Given the description of an element on the screen output the (x, y) to click on. 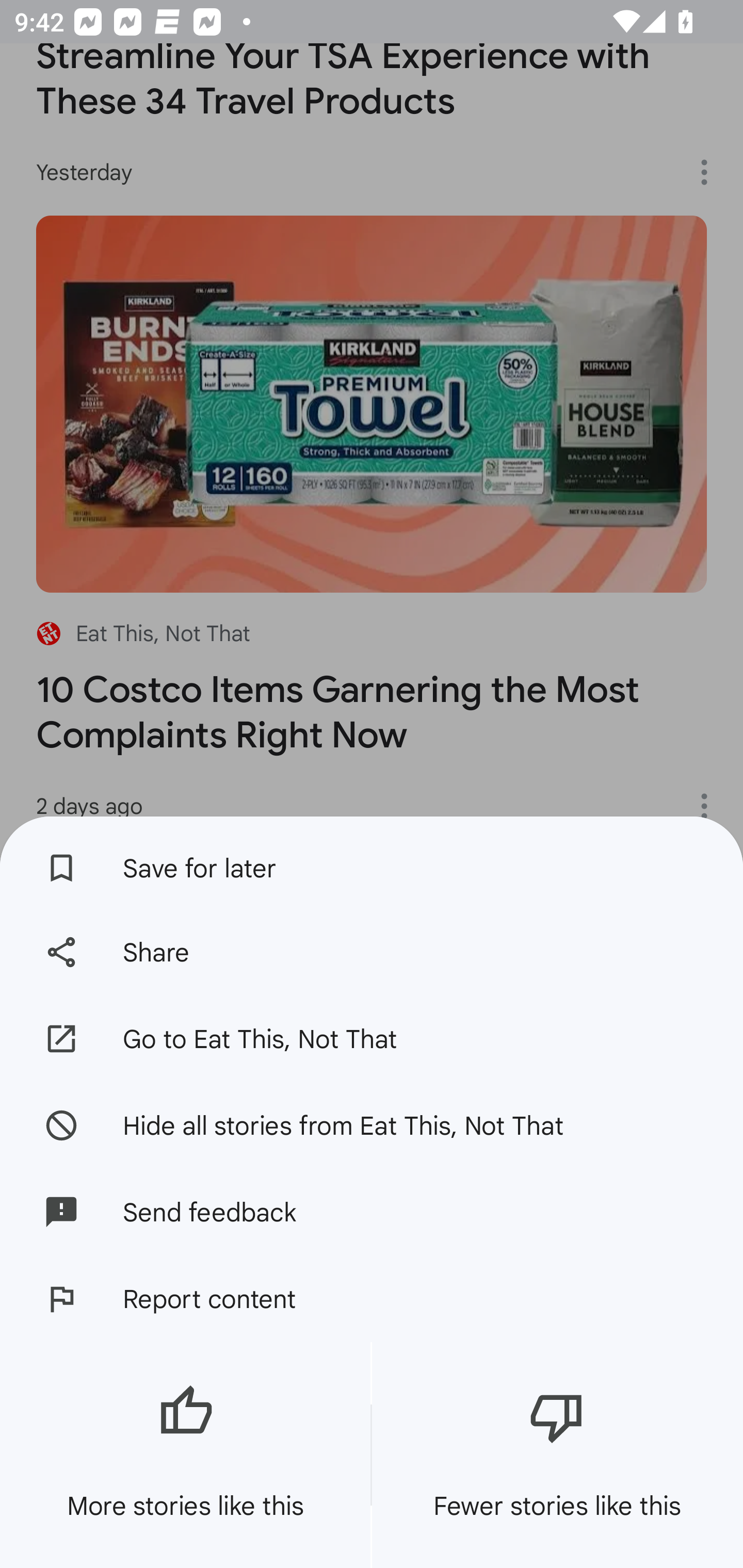
Save for later (371, 862)
Share (371, 952)
Go to Eat This, Not That (371, 1038)
Hide all stories from Eat This, Not That (371, 1124)
Send feedback (371, 1211)
Report content (371, 1298)
More stories like this (185, 1455)
Fewer stories like this (557, 1455)
